Given the description of an element on the screen output the (x, y) to click on. 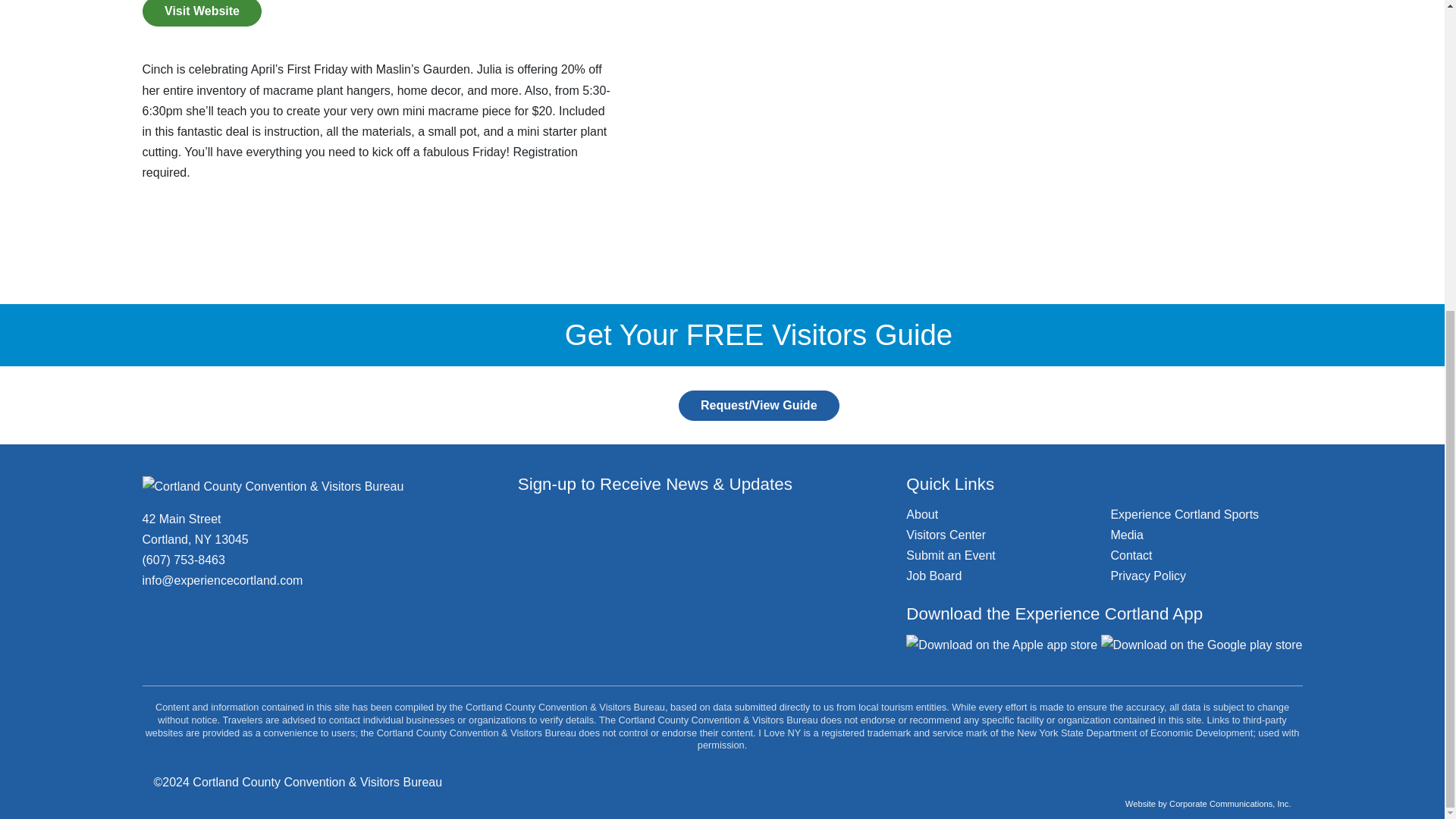
Visit Website (202, 13)
